Given the description of an element on the screen output the (x, y) to click on. 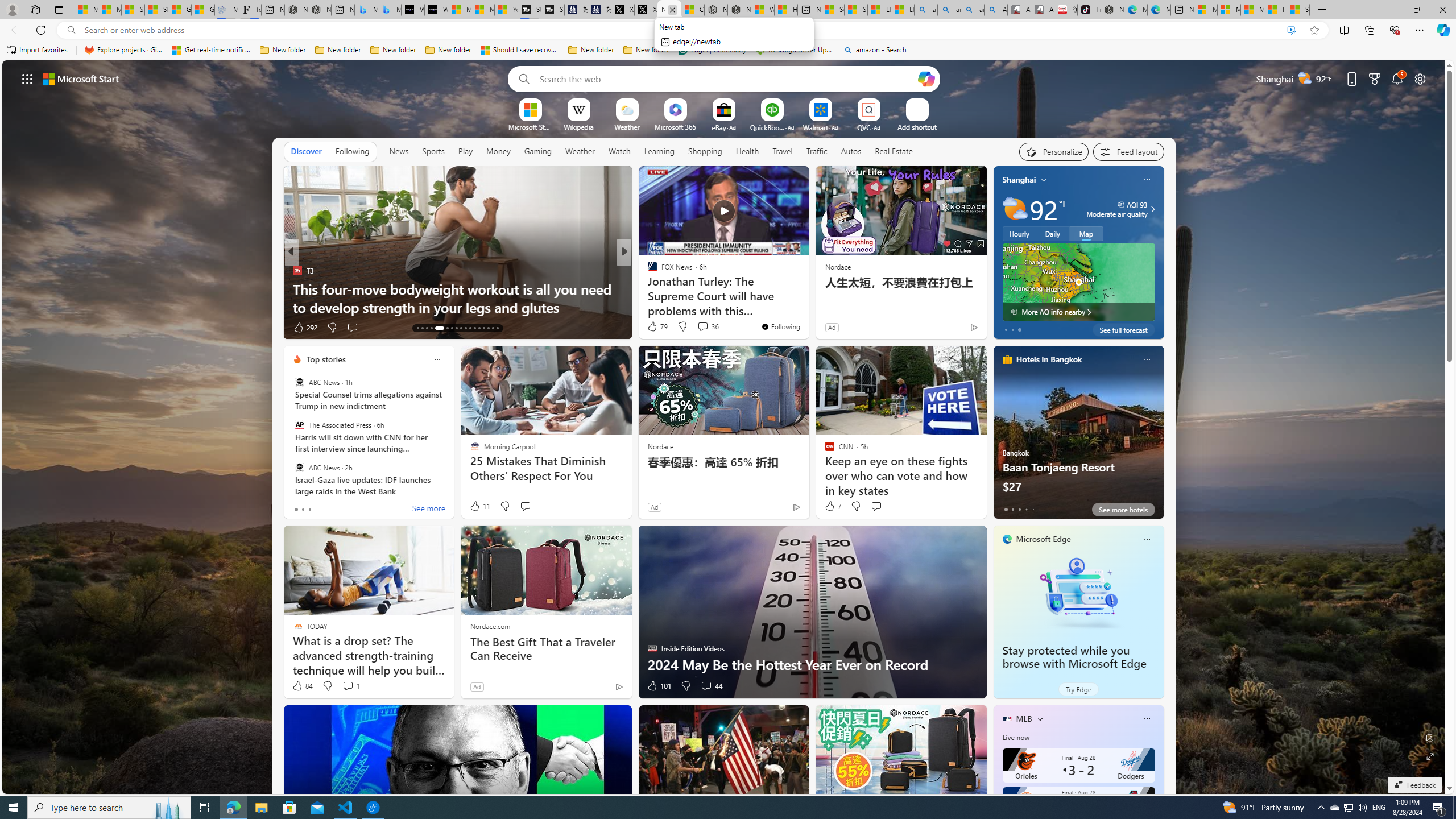
101 Like (658, 685)
Microsoft account | Privacy (1228, 9)
amazon - Search (875, 49)
10 Like (652, 327)
Minimize (1390, 9)
Microsoft Bing Travel - Shangri-La Hotel Bangkok (389, 9)
Shopping (705, 151)
Feed settings (1128, 151)
Daily (1052, 233)
Page settings (1420, 78)
Partly sunny (1014, 208)
AutomationID: tab-19 (451, 328)
It's officially the end for Windows 10! (807, 307)
